Given the description of an element on the screen output the (x, y) to click on. 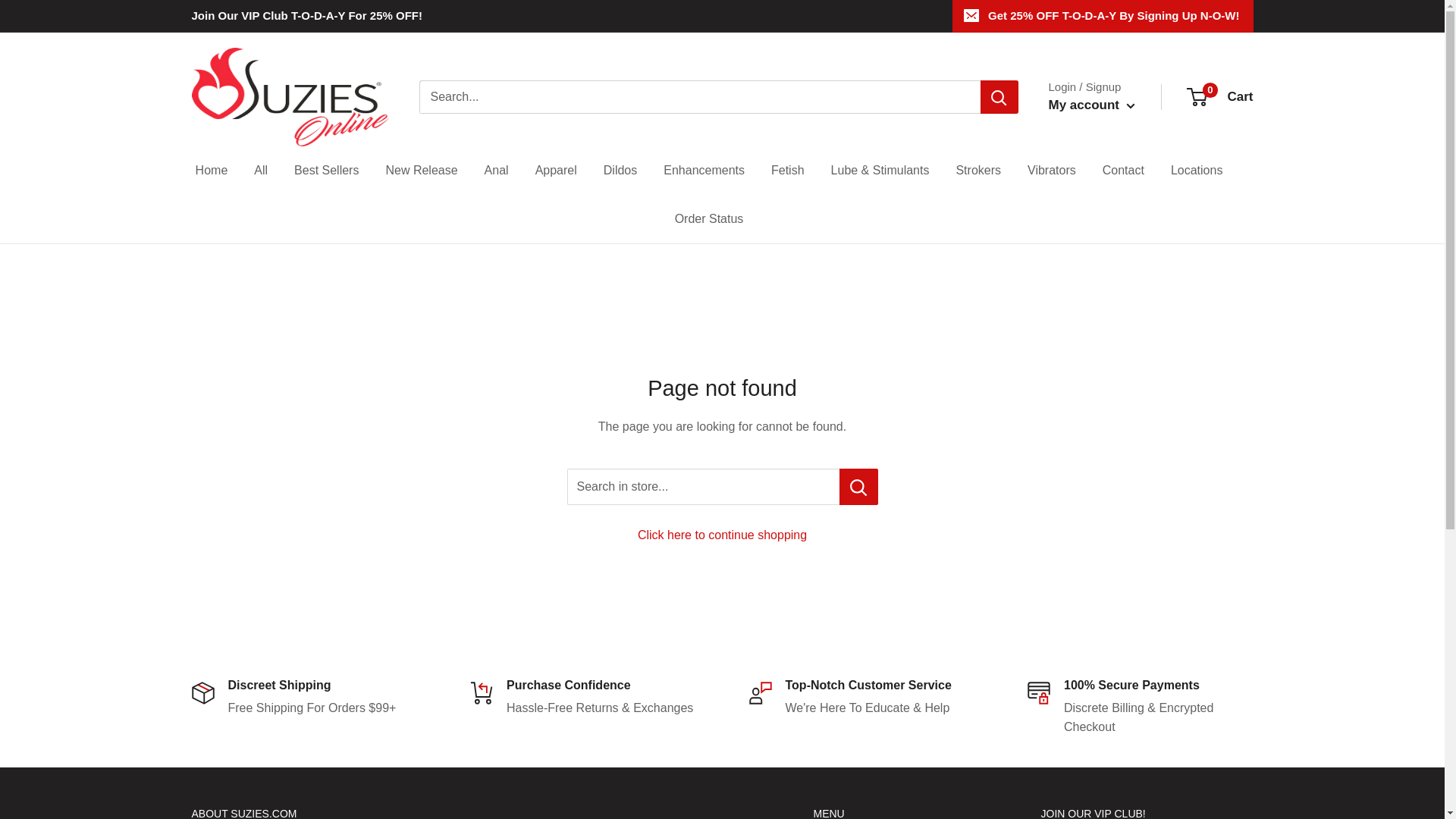
My account (1091, 105)
Suzies.com (289, 96)
